Given the description of an element on the screen output the (x, y) to click on. 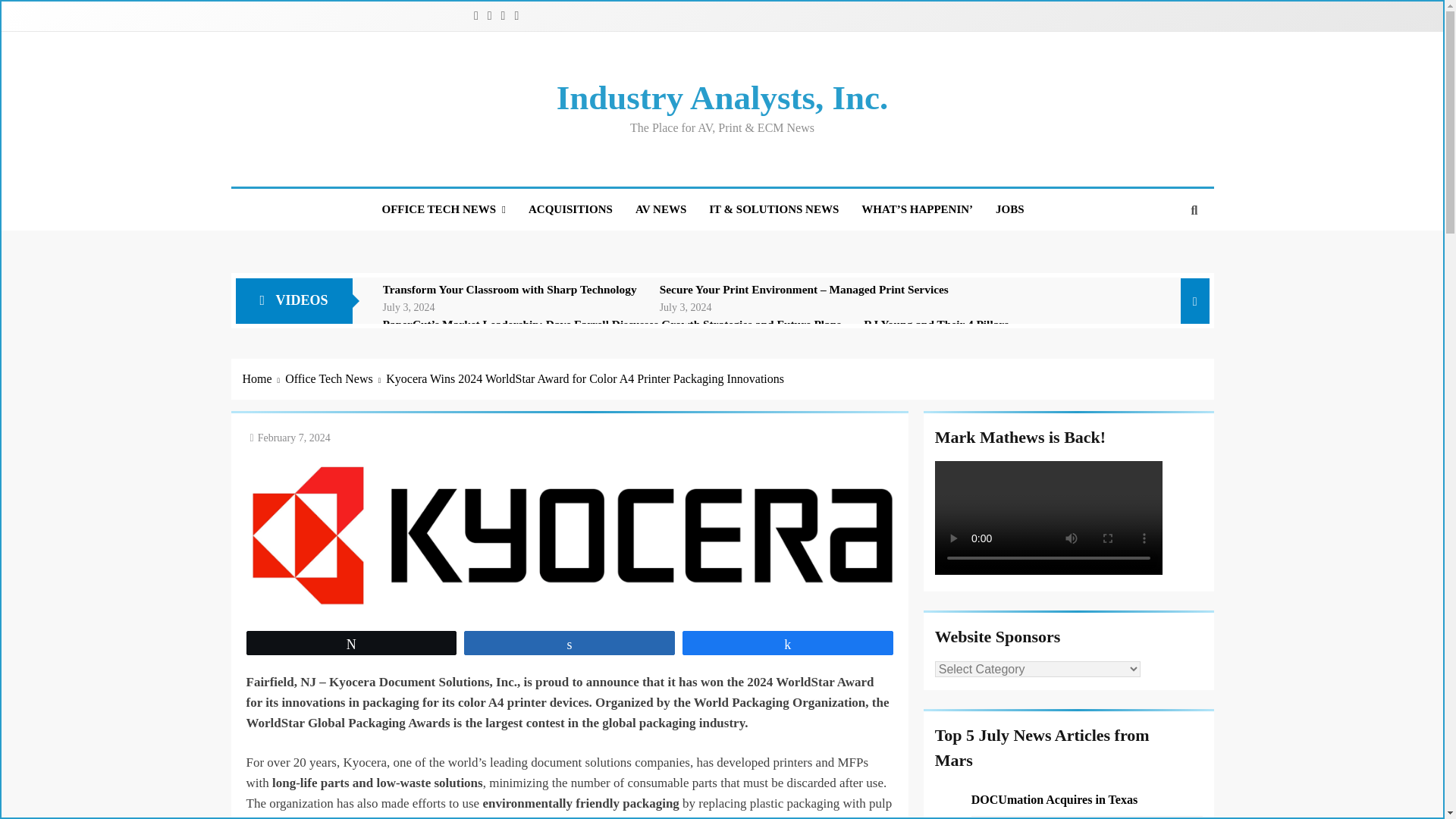
July 3, 2024 (408, 306)
RJ Young and Their 4 Pillars (936, 324)
OFFICE TECH NEWS (442, 209)
February 7, 2024 (293, 437)
JOBS (1009, 209)
Home (264, 379)
July 3, 2024 (685, 306)
ACQUISITIONS (570, 209)
Acquisitions (570, 209)
Transform Your Classroom with Sharp Technology (509, 289)
Transform Your Classroom with Sharp Technology (509, 289)
RJ Young and Their 4 Pillars (936, 324)
Industry Analysts, Inc. (722, 97)
AV NEWS (660, 209)
